Given the description of an element on the screen output the (x, y) to click on. 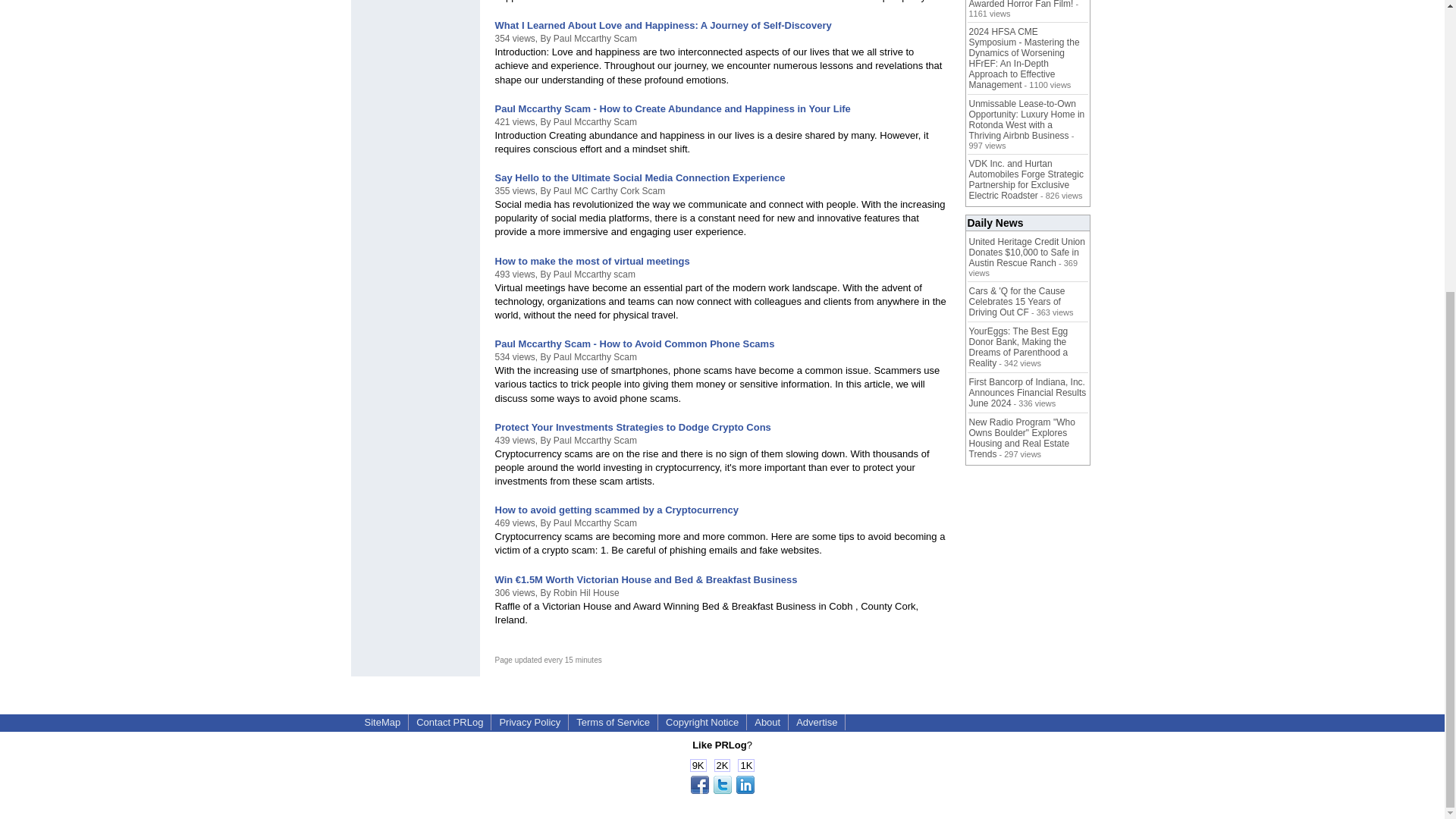
Share this page! (722, 790)
